Given the description of an element on the screen output the (x, y) to click on. 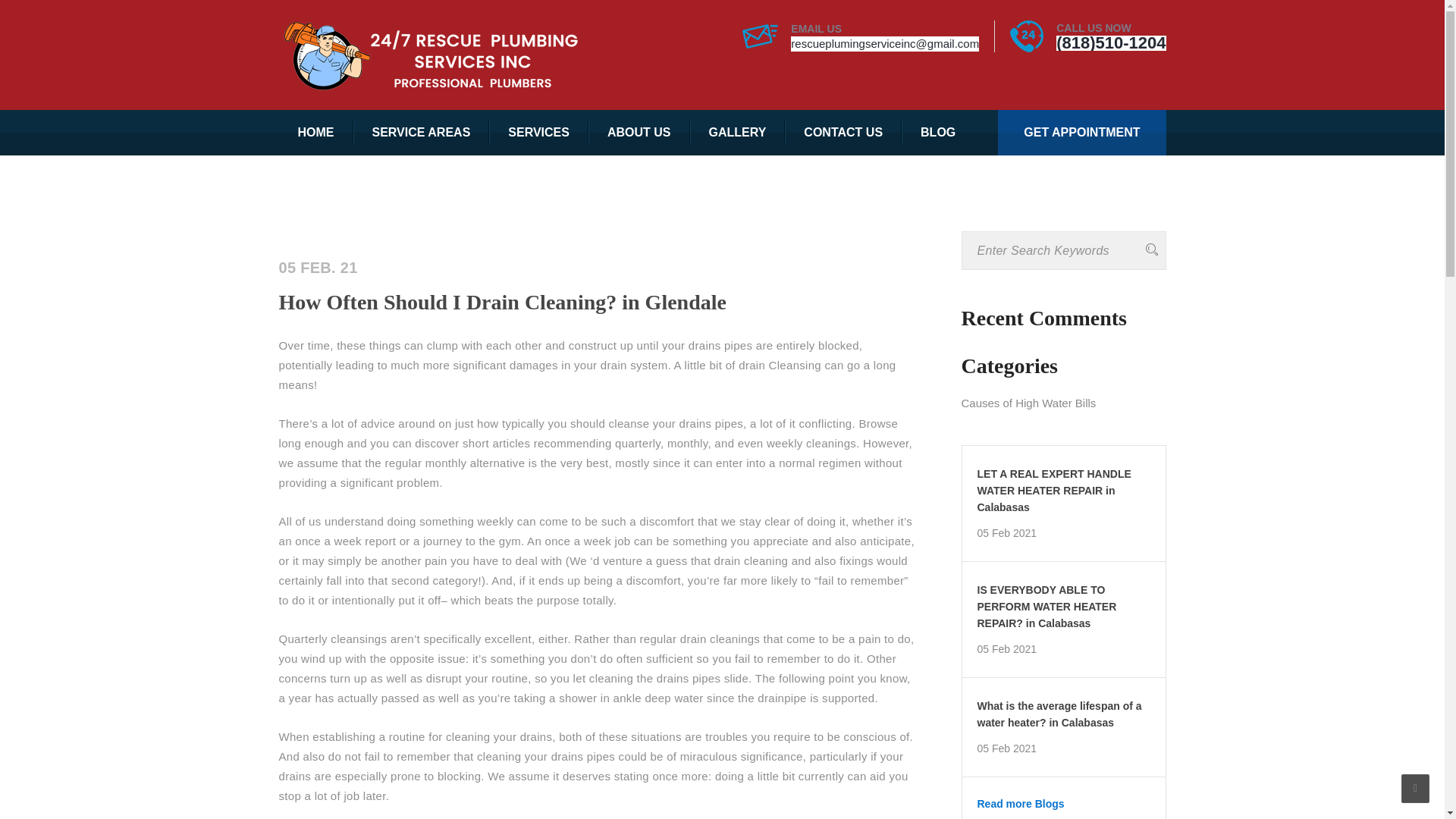
SERVICES (538, 132)
SERVICE AREAS (421, 132)
BLOG (937, 132)
ABOUT US (639, 132)
GET APPOINTMENT (1081, 132)
GALLERY (738, 132)
CONTACT US (842, 132)
HOME (316, 132)
